Given the description of an element on the screen output the (x, y) to click on. 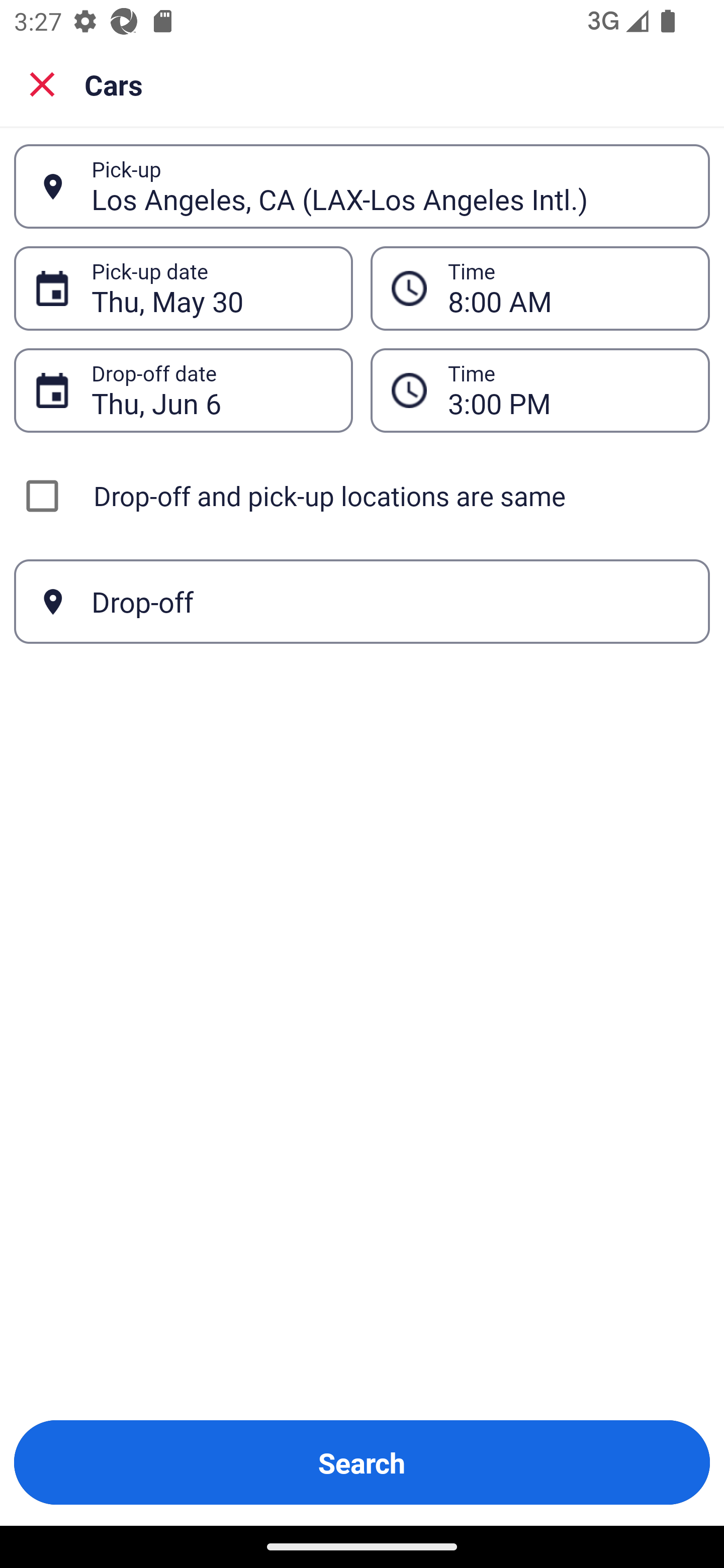
Close search screen (41, 83)
Los Angeles, CA (LAX-Los Angeles Intl.) Pick-up (361, 186)
Los Angeles, CA (LAX-Los Angeles Intl.) (389, 186)
Thu, May 30 Pick-up date (183, 288)
8:00 AM (540, 288)
Thu, May 30 (211, 288)
8:00 AM (568, 288)
Thu, Jun 6 Drop-off date (183, 390)
3:00 PM (540, 390)
Thu, Jun 6 (211, 390)
3:00 PM (568, 390)
Drop-off and pick-up locations are same (361, 495)
Drop-off (361, 601)
Search Button Search (361, 1462)
